Given the description of an element on the screen output the (x, y) to click on. 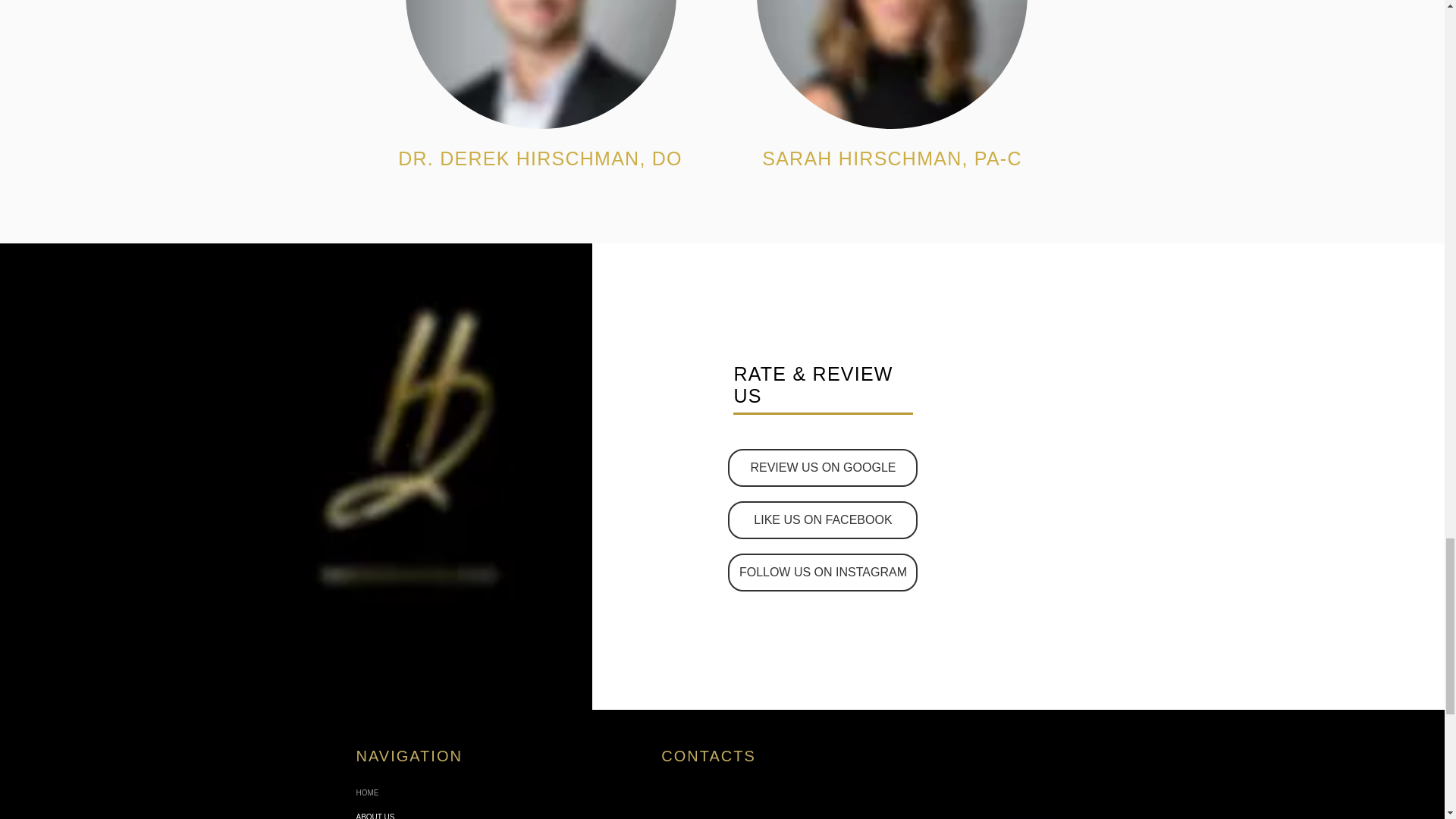
ABOUT US (436, 812)
HOME (436, 793)
LIKE US ON FACEBOOK (822, 519)
FOLLOW US ON INSTAGRAM (822, 572)
REVIEW US ON GOOGLE (822, 467)
